Given the description of an element on the screen output the (x, y) to click on. 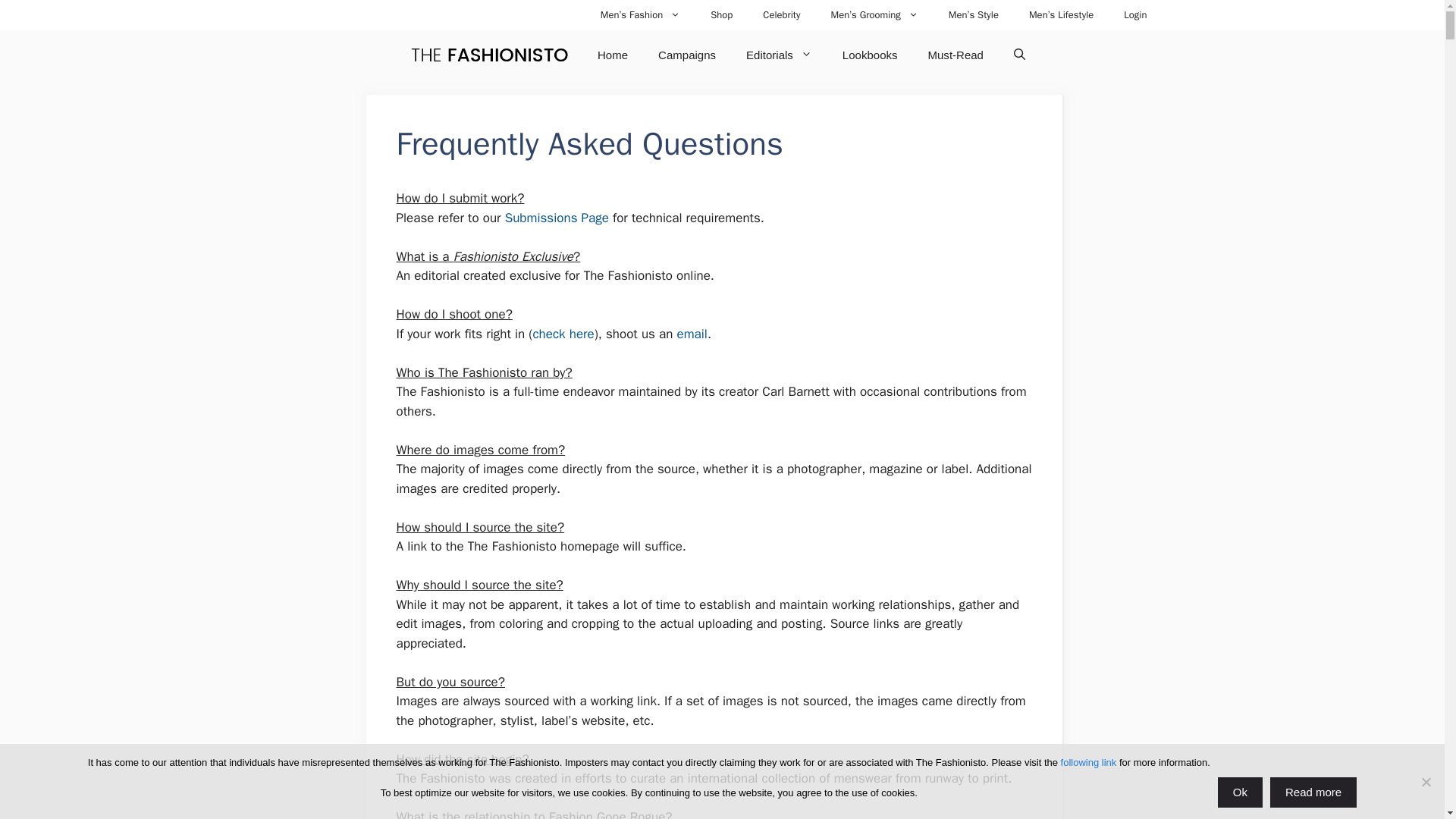
Campaigns (686, 53)
Submissions (556, 217)
check here (563, 333)
The Fashionisto (489, 54)
Home (612, 53)
Celebrity (781, 15)
Login (1134, 15)
Submissions Page (556, 217)
No (1425, 780)
Login (1134, 15)
